Given the description of an element on the screen output the (x, y) to click on. 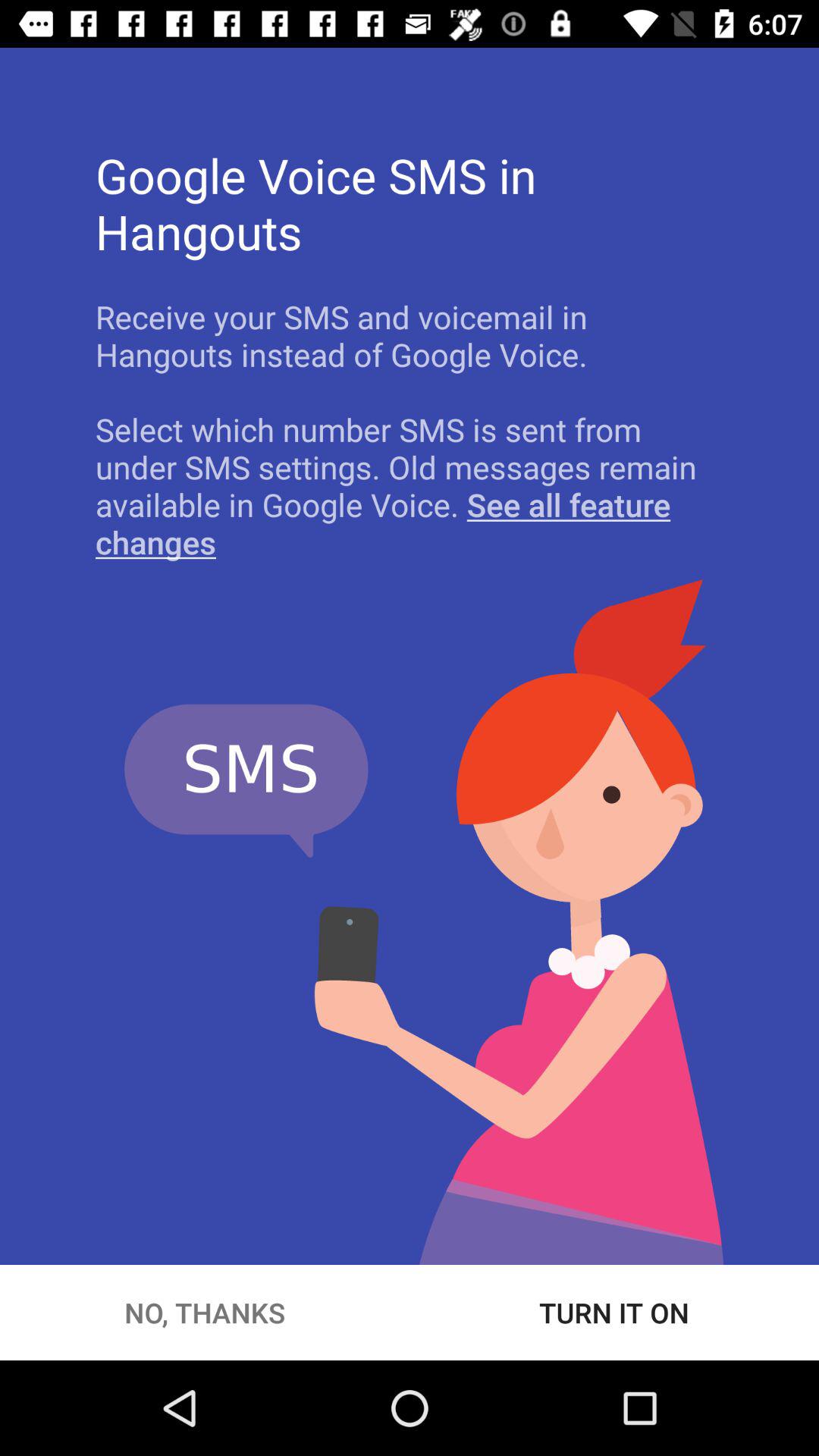
press turn it on at the bottom right corner (614, 1312)
